Given the description of an element on the screen output the (x, y) to click on. 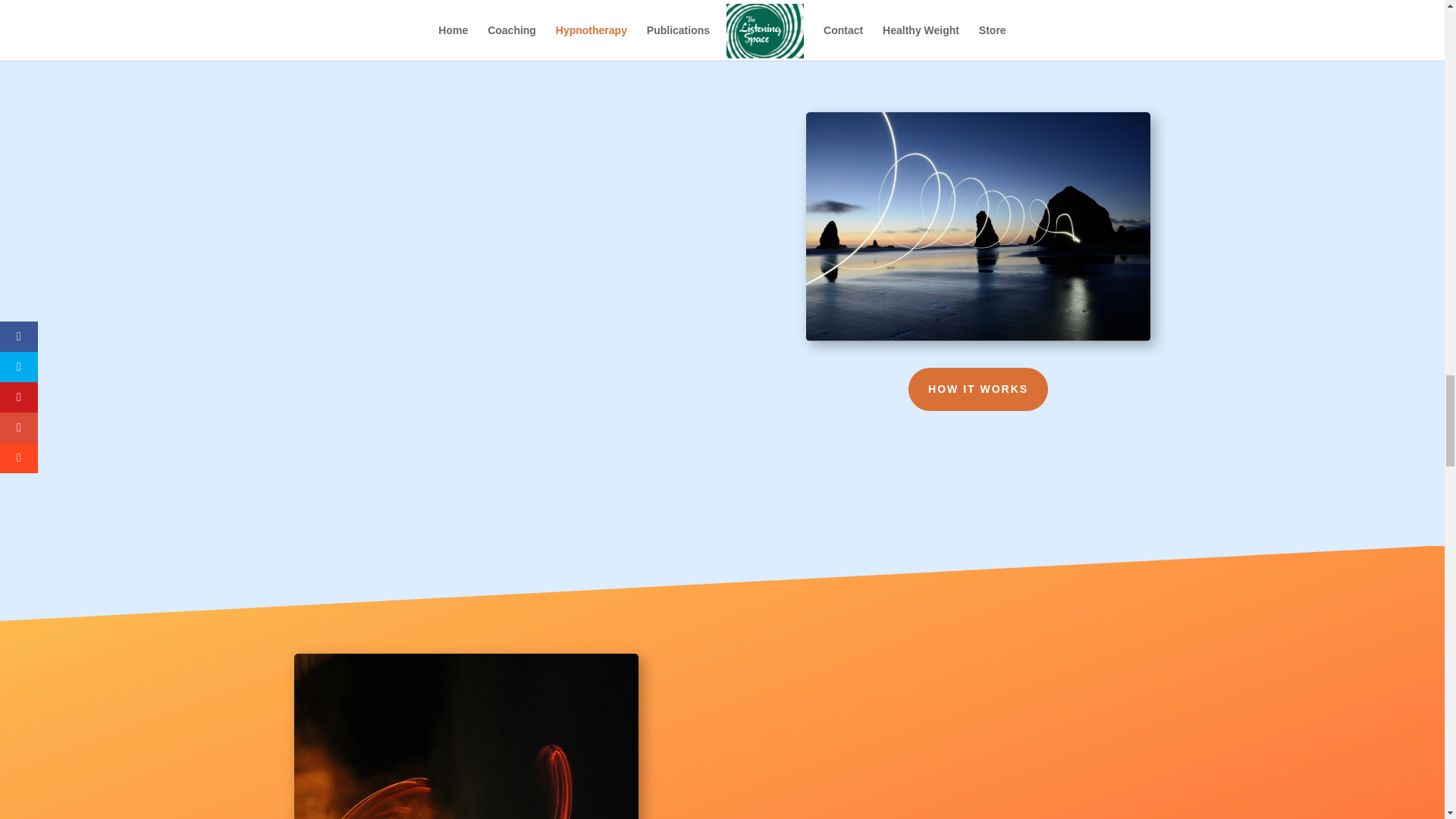
HOW IT WORKS (978, 388)
